Given the description of an element on the screen output the (x, y) to click on. 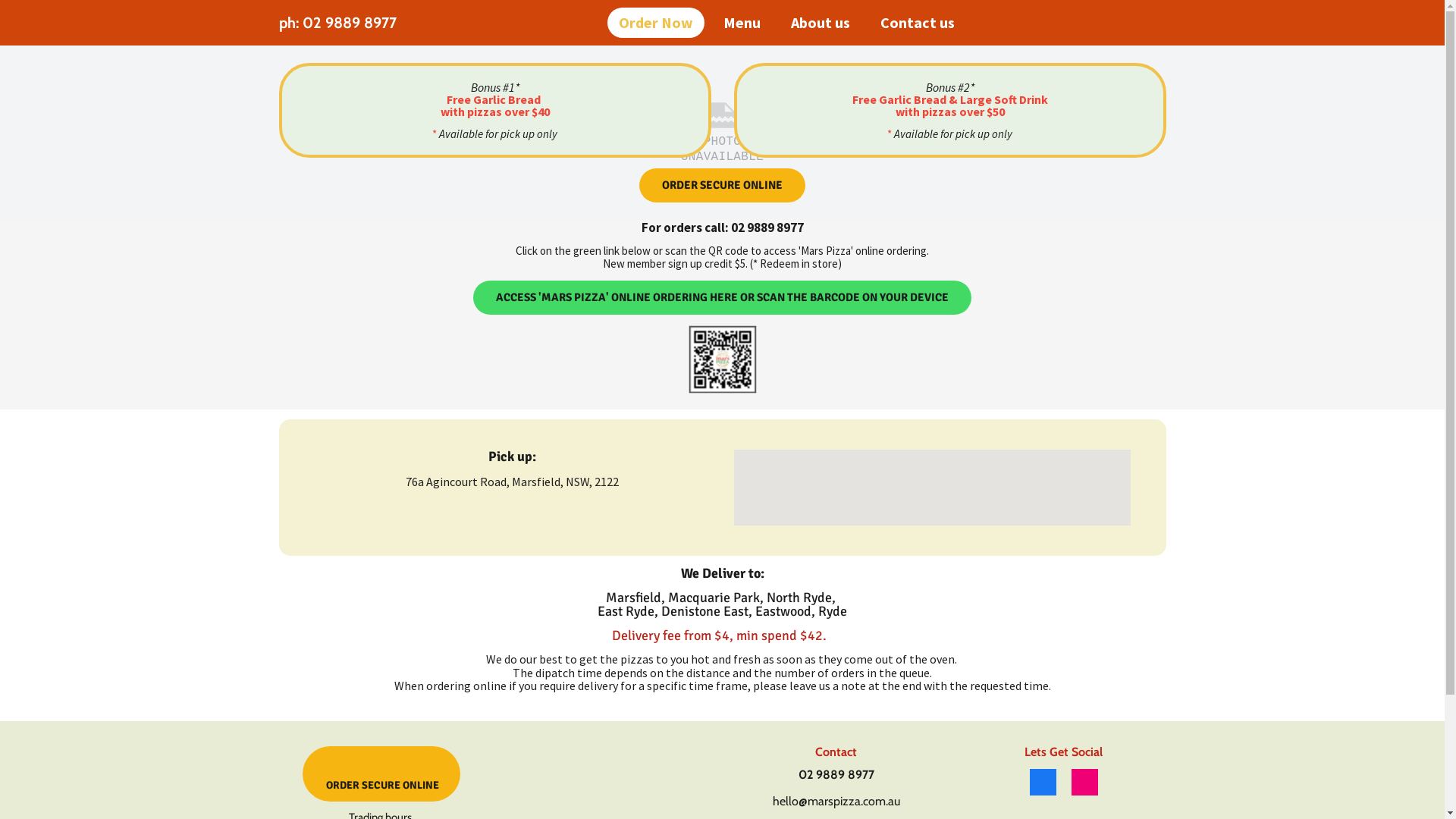
Contact us Element type: text (917, 22)
hello@marspizza.com.au Element type: text (835, 801)
ORDER SECURE ONLINE Element type: text (722, 185)
76A Agincourt Road, Marsfield, NSW, 2122 Element type: hover (932, 487)
ORDER SECURE ONLINE Element type: text (380, 774)
02 9889 8977 Element type: text (835, 774)
About us Element type: text (820, 22)
Menu Element type: text (741, 22)
Order Now Element type: text (655, 22)
